Given the description of an element on the screen output the (x, y) to click on. 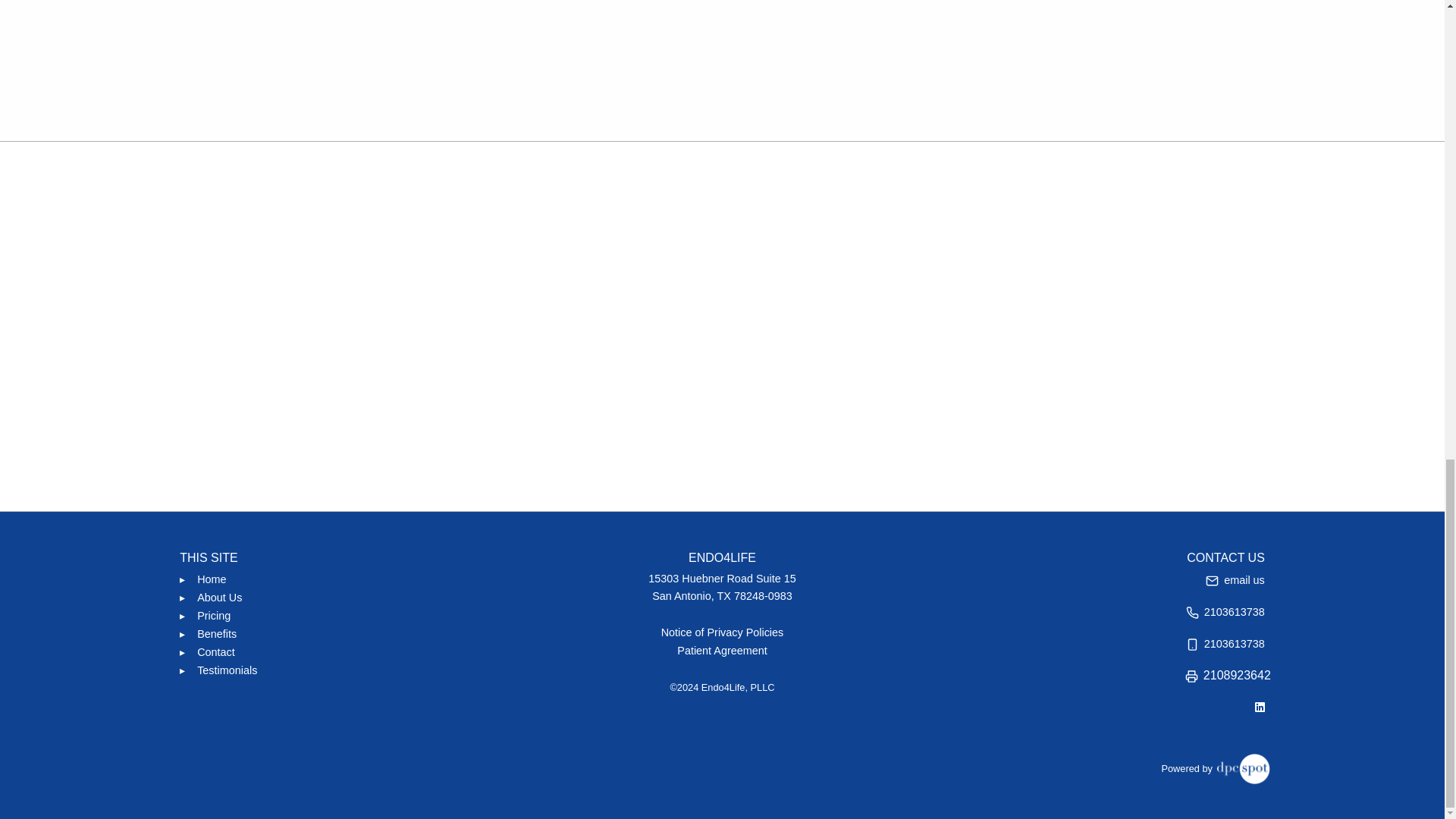
Patient Agreement (722, 650)
Notice of Privacy Policies (722, 631)
email us (1235, 580)
Benefits (216, 633)
2103613738 (1225, 611)
Home (210, 579)
2103613738 (1225, 643)
Testimonials (226, 670)
Pricing (212, 615)
Powered by (1214, 767)
